Given the description of an element on the screen output the (x, y) to click on. 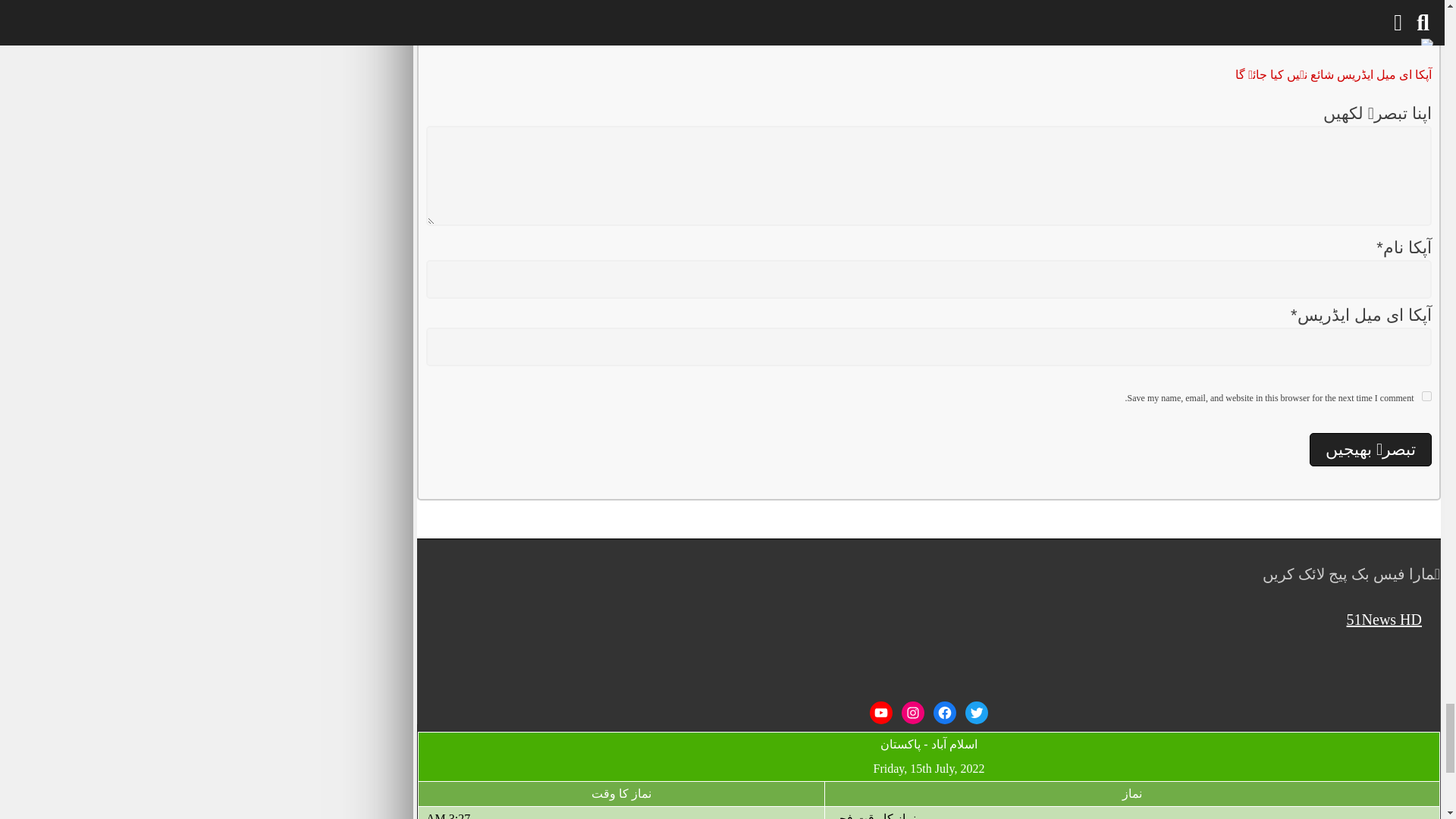
yes (1426, 396)
